Given the description of an element on the screen output the (x, y) to click on. 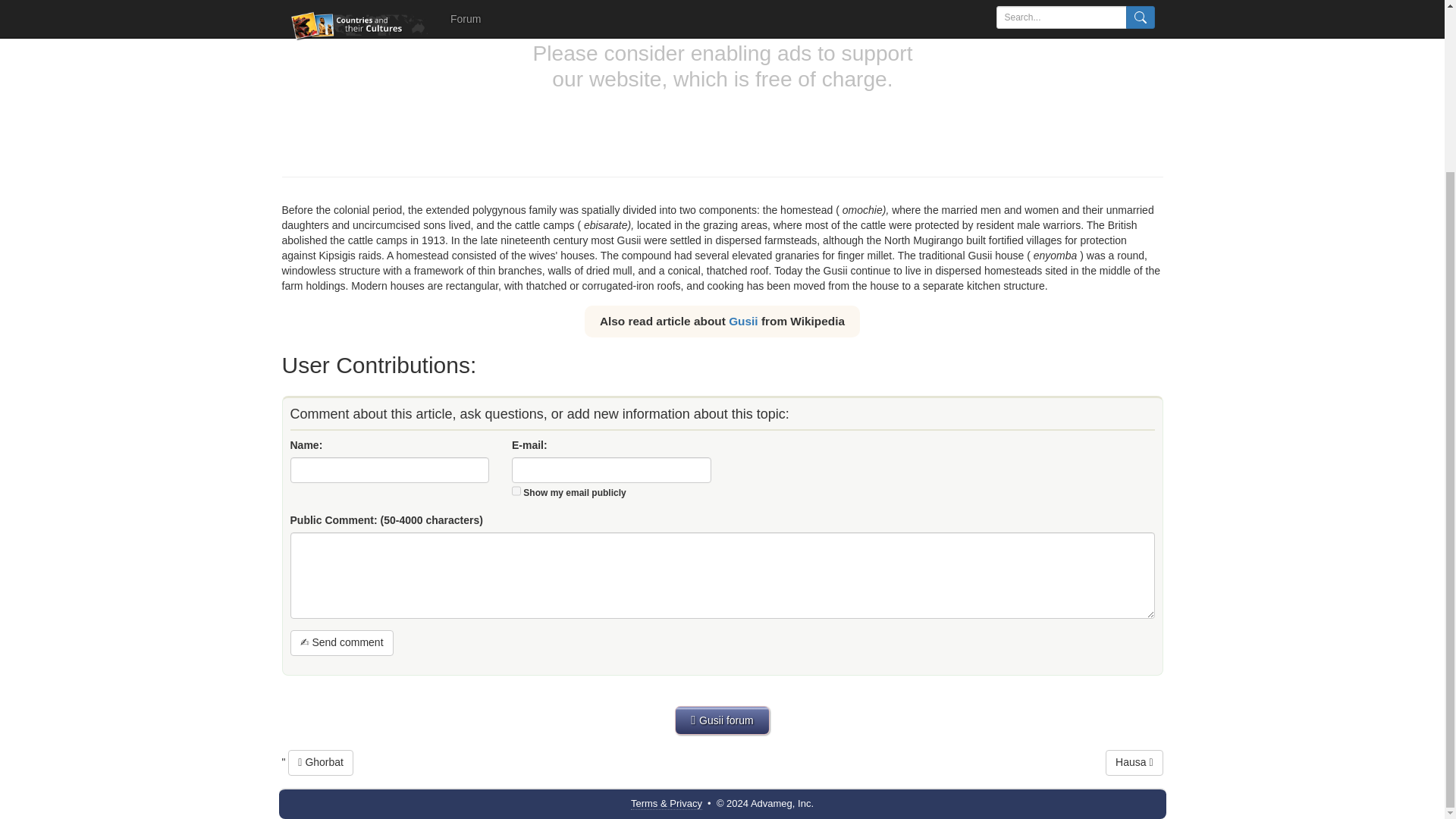
1 (516, 491)
Hausa (1133, 762)
Gusii forum (721, 719)
Ghorbat (320, 762)
Gusii (743, 319)
